Given the description of an element on the screen output the (x, y) to click on. 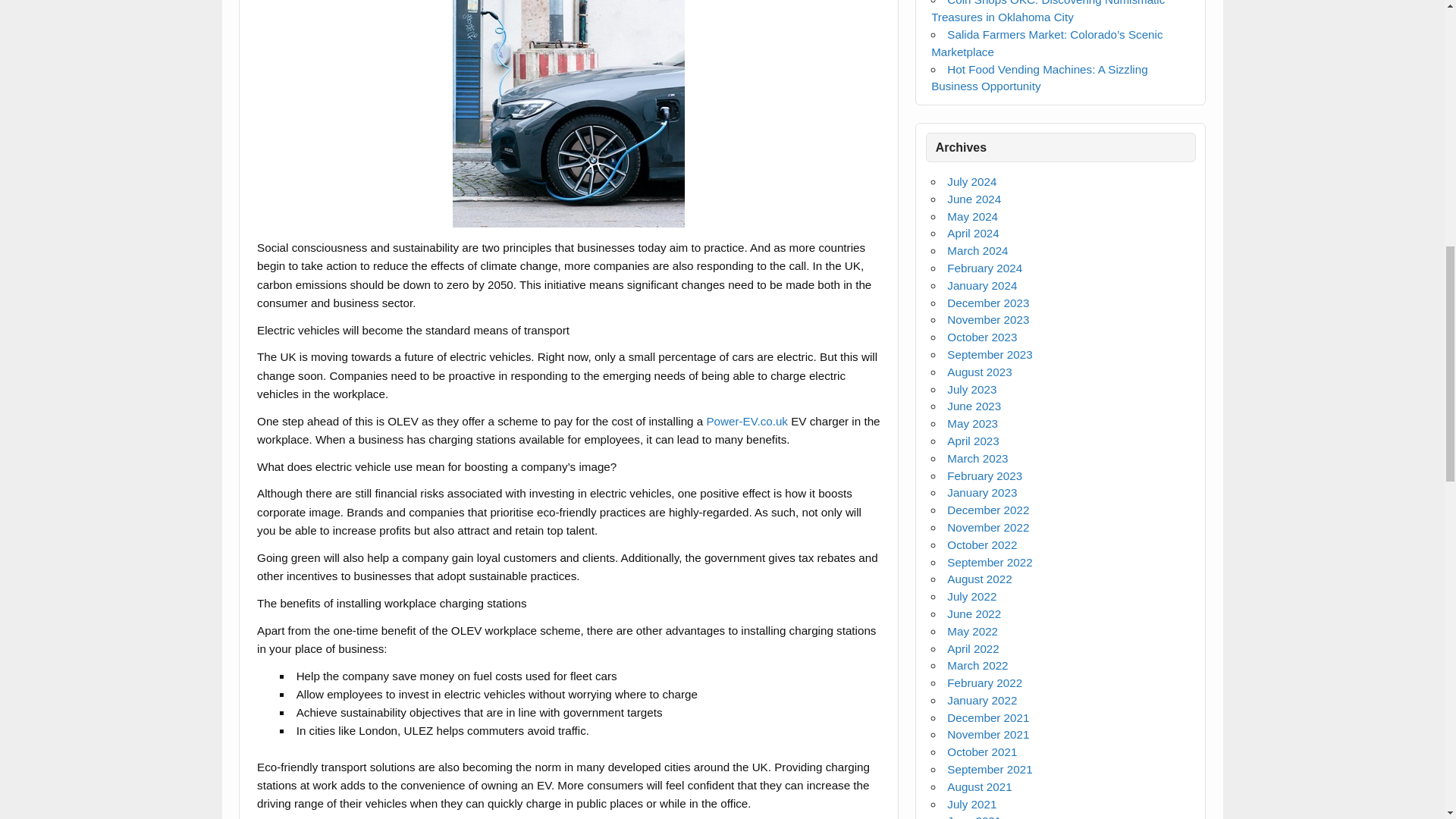
July 2023 (971, 389)
June 2024 (974, 198)
December 2023 (988, 302)
September 2023 (989, 354)
January 2024 (981, 285)
August 2023 (979, 371)
March 2024 (977, 250)
July 2024 (971, 181)
April 2024 (972, 232)
Hot Food Vending Machines: A Sizzling Business Opportunity (1039, 78)
June 2023 (974, 405)
October 2023 (981, 336)
February 2024 (984, 267)
Power-EV.co.uk (746, 420)
